Given the description of an element on the screen output the (x, y) to click on. 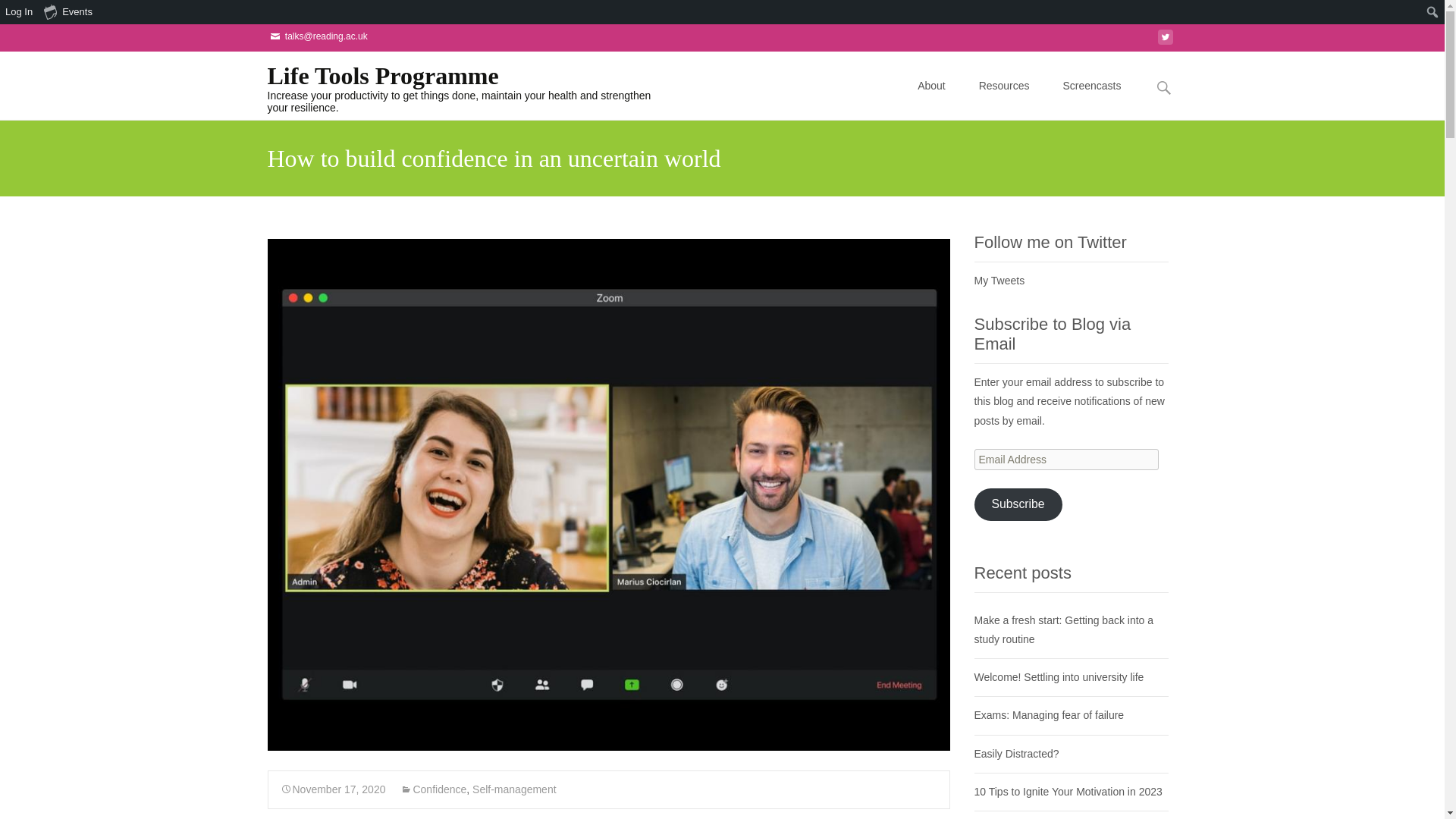
My Tweets (999, 280)
Exams: Managing fear of failure (1049, 715)
Welcome! Settling into university life (1058, 676)
Search for: (1163, 87)
10 Tips to Ignite Your Motivation in 2023 (1067, 791)
Permalink to How to build confidence in an uncertain world (333, 788)
